Given the description of an element on the screen output the (x, y) to click on. 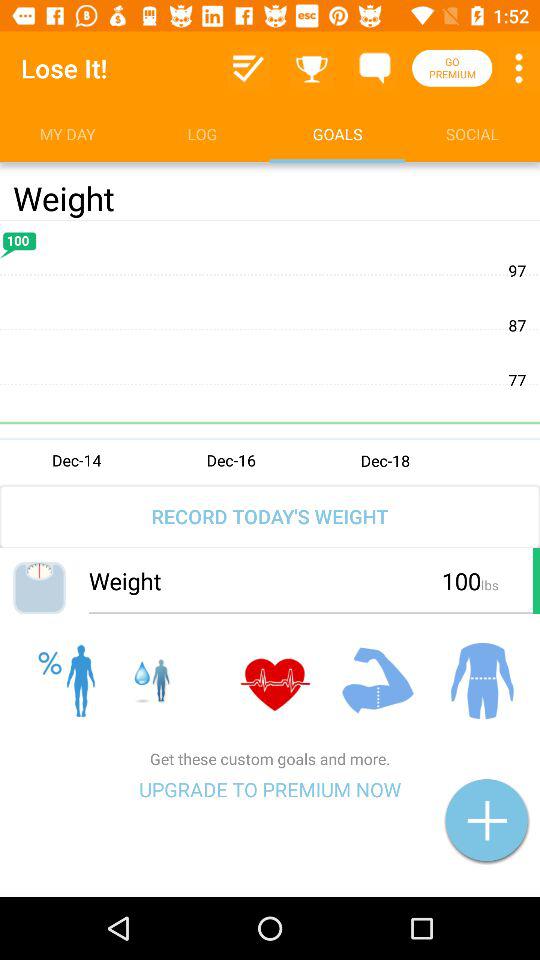
click the record today s item (270, 516)
